Given the description of an element on the screen output the (x, y) to click on. 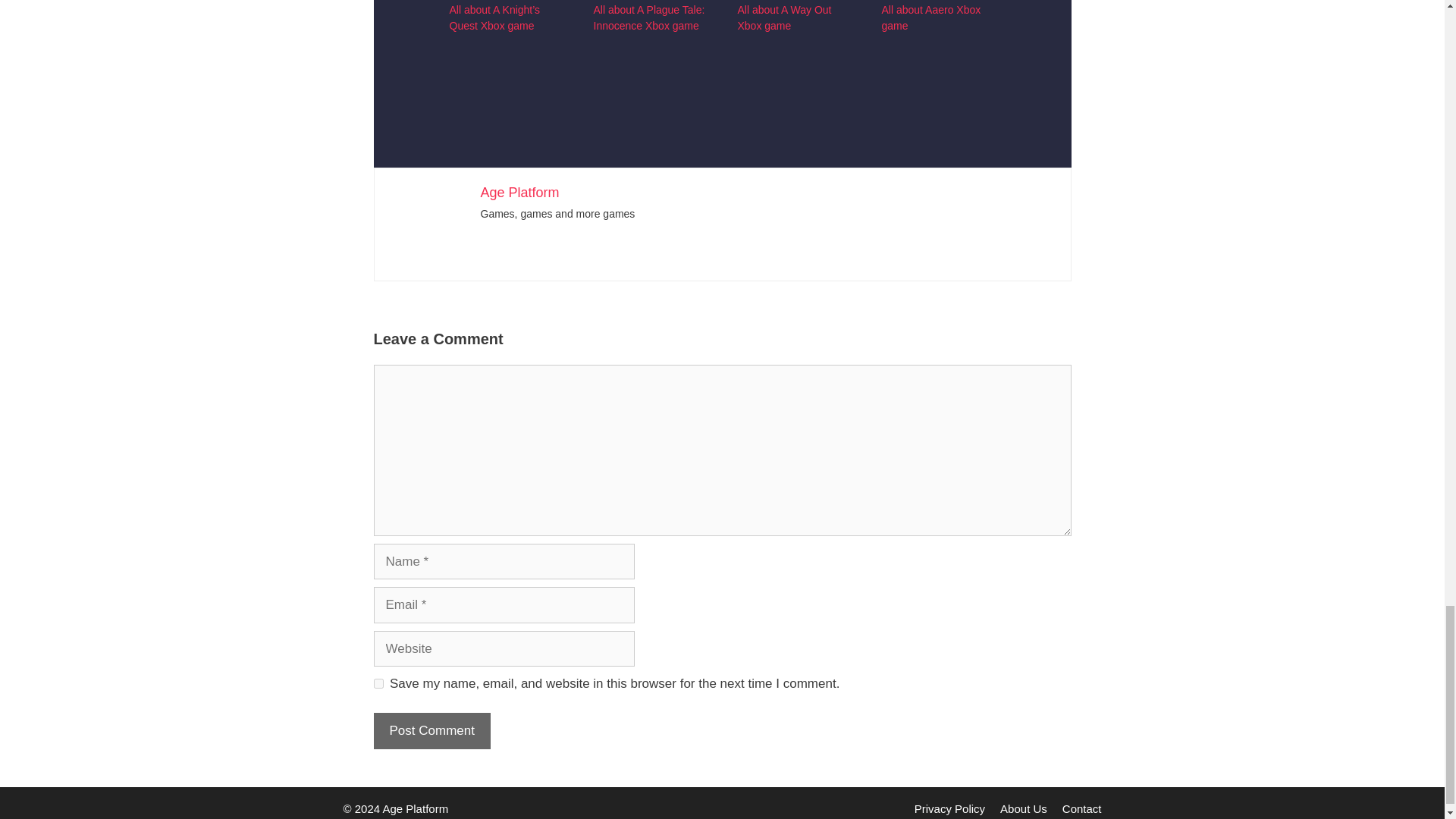
All about A Boy and His Blob Xbox game (793, 43)
Post Comment (430, 730)
All about A Way Out Xbox game (783, 17)
All about 3on3 FreeStyle Xbox game (505, 43)
Post Comment (430, 730)
Contact (1082, 808)
Privacy Policy (949, 808)
Age Platform (519, 192)
yes (377, 683)
All about A Plague Tale: Innocence Xbox game (648, 17)
